Given the description of an element on the screen output the (x, y) to click on. 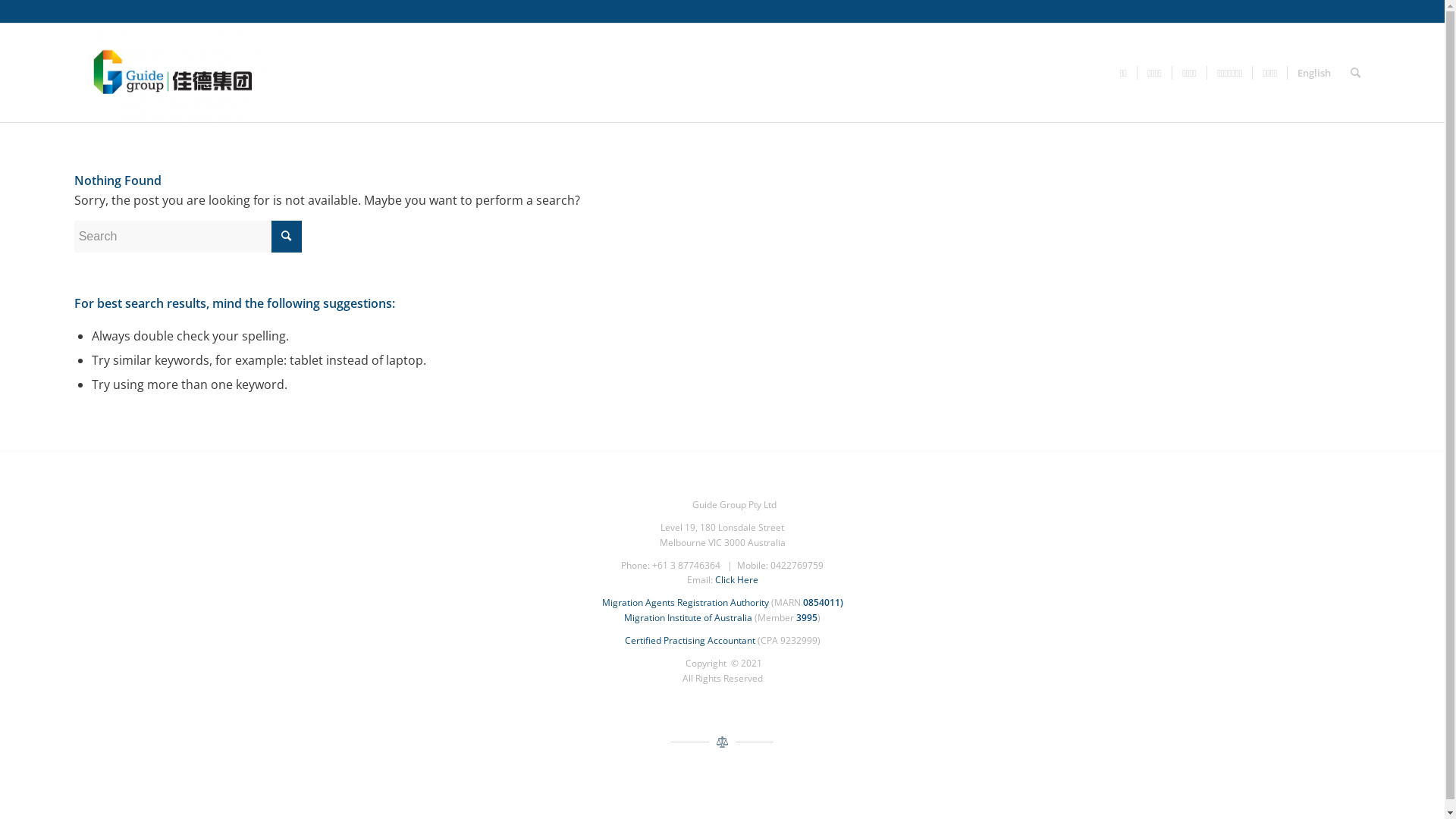
3995 Element type: text (806, 617)
English Element type: text (1313, 72)
Click Here Element type: text (735, 579)
0854011 Element type: text (820, 602)
Certified Practising Accountant Element type: text (689, 639)
Migration Agents Registration Authority Element type: text (685, 602)
Migration Institute of Australia Element type: text (688, 617)
